Given the description of an element on the screen output the (x, y) to click on. 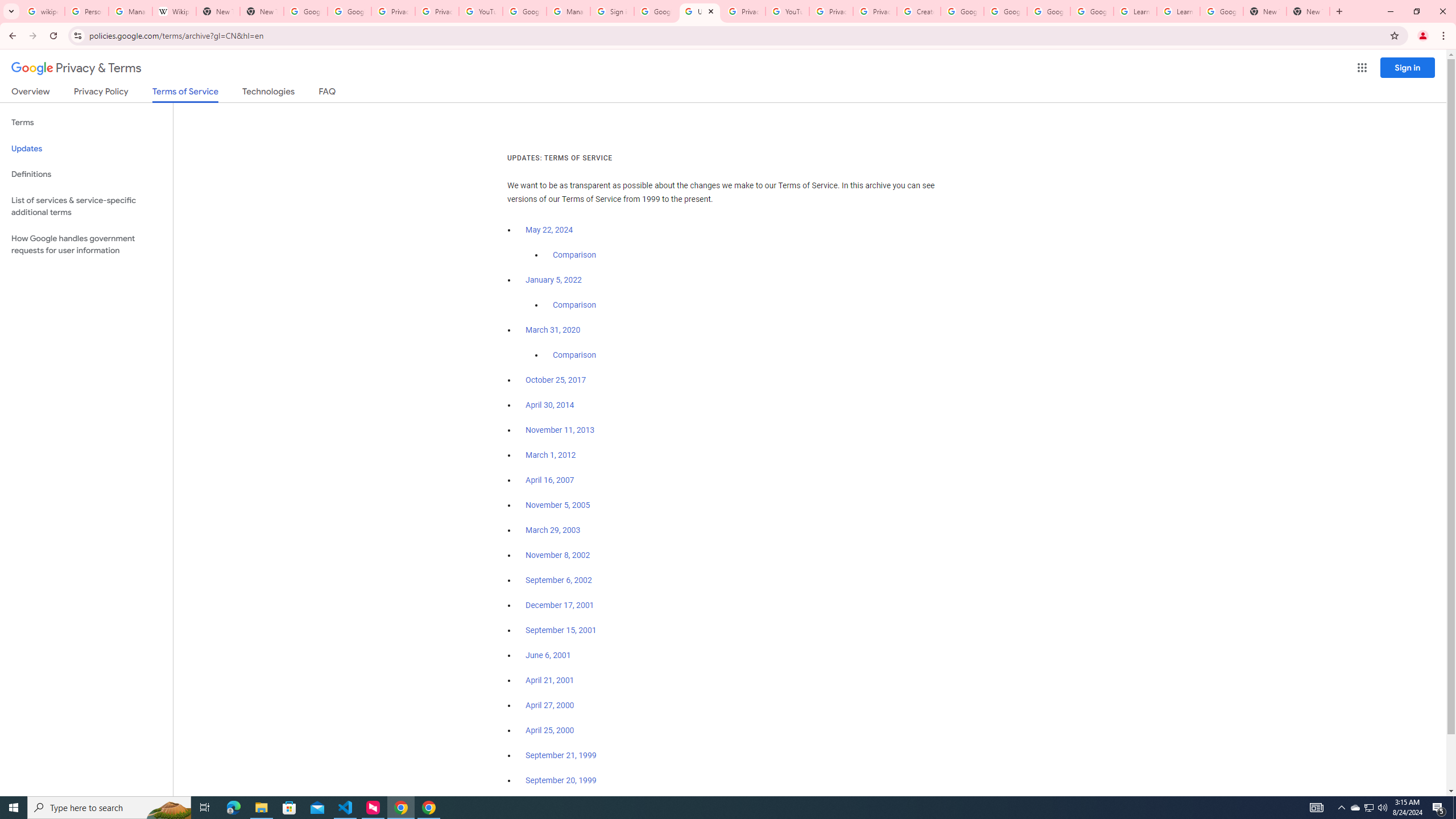
October 25, 2017 (555, 380)
Google Account (1221, 11)
March 1, 2012 (550, 455)
Google Account Help (524, 11)
Overview (30, 93)
September 21, 1999 (560, 755)
April 16, 2007 (550, 480)
